Given the description of an element on the screen output the (x, y) to click on. 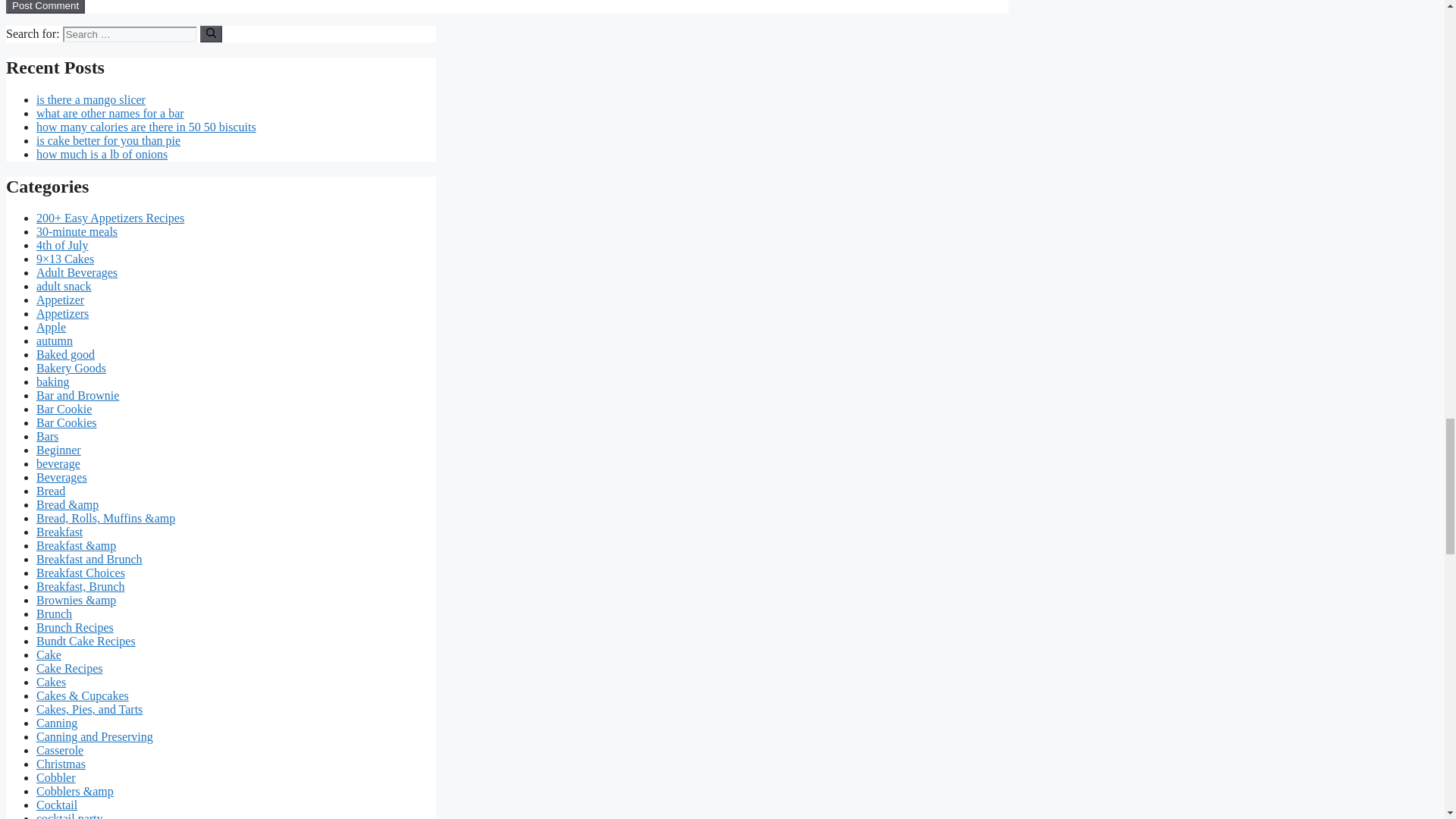
is cake better for you than pie (108, 140)
how many calories are there in 50 50 biscuits (146, 126)
Post Comment (44, 6)
how much is a lb of onions (101, 154)
Appetizer (60, 299)
Adult Beverages (76, 272)
4th of July (61, 245)
Apple (50, 327)
30-minute meals (76, 231)
Baked good (65, 354)
